Given the description of an element on the screen output the (x, y) to click on. 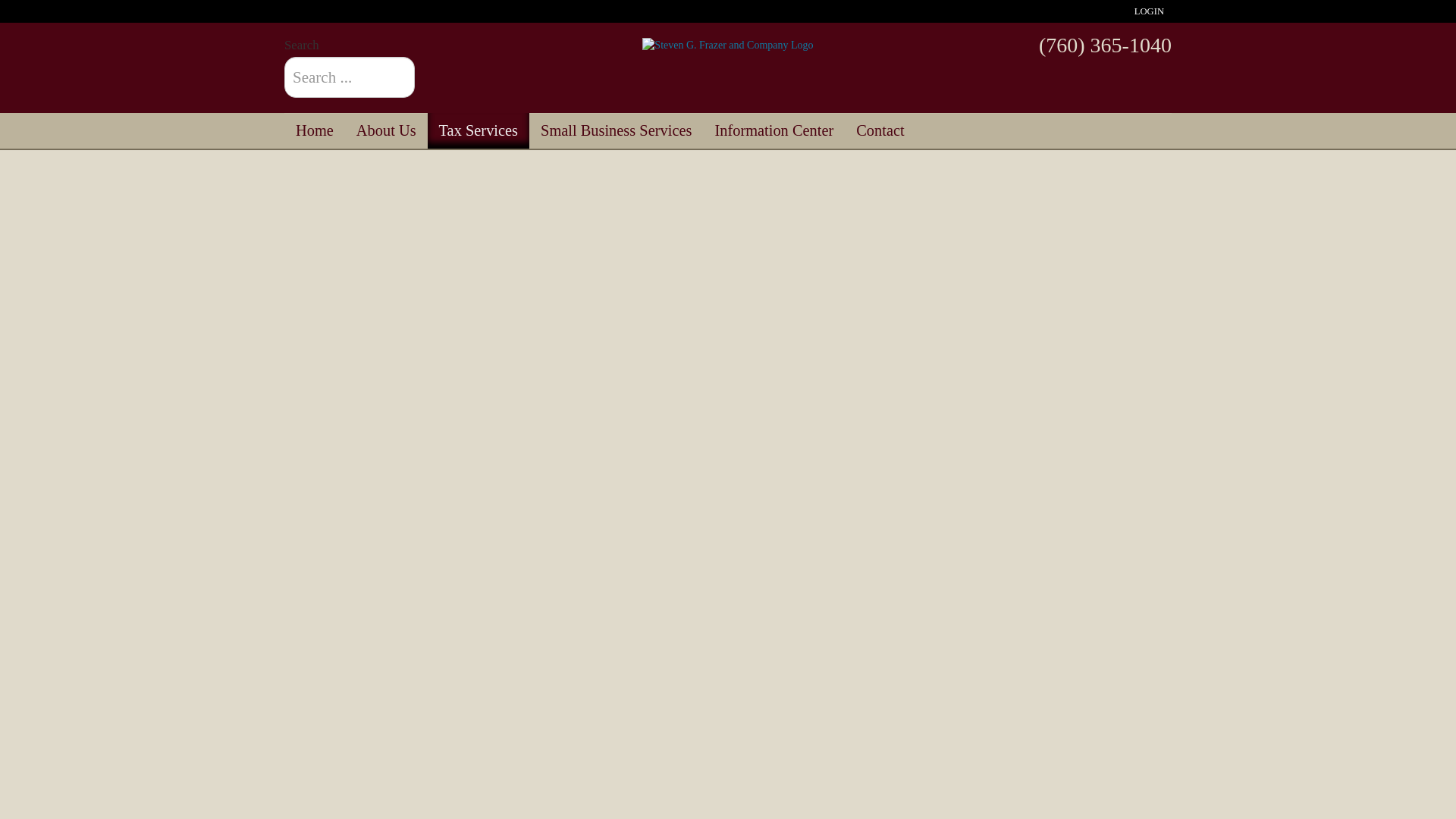
Contact (879, 130)
About Us (386, 130)
Steven G. Frazer and Company - Home Page (727, 45)
LOGIN (1149, 11)
Tax Services (478, 130)
Small Business Services (616, 130)
Home (314, 130)
Information Center (773, 130)
